Given the description of an element on the screen output the (x, y) to click on. 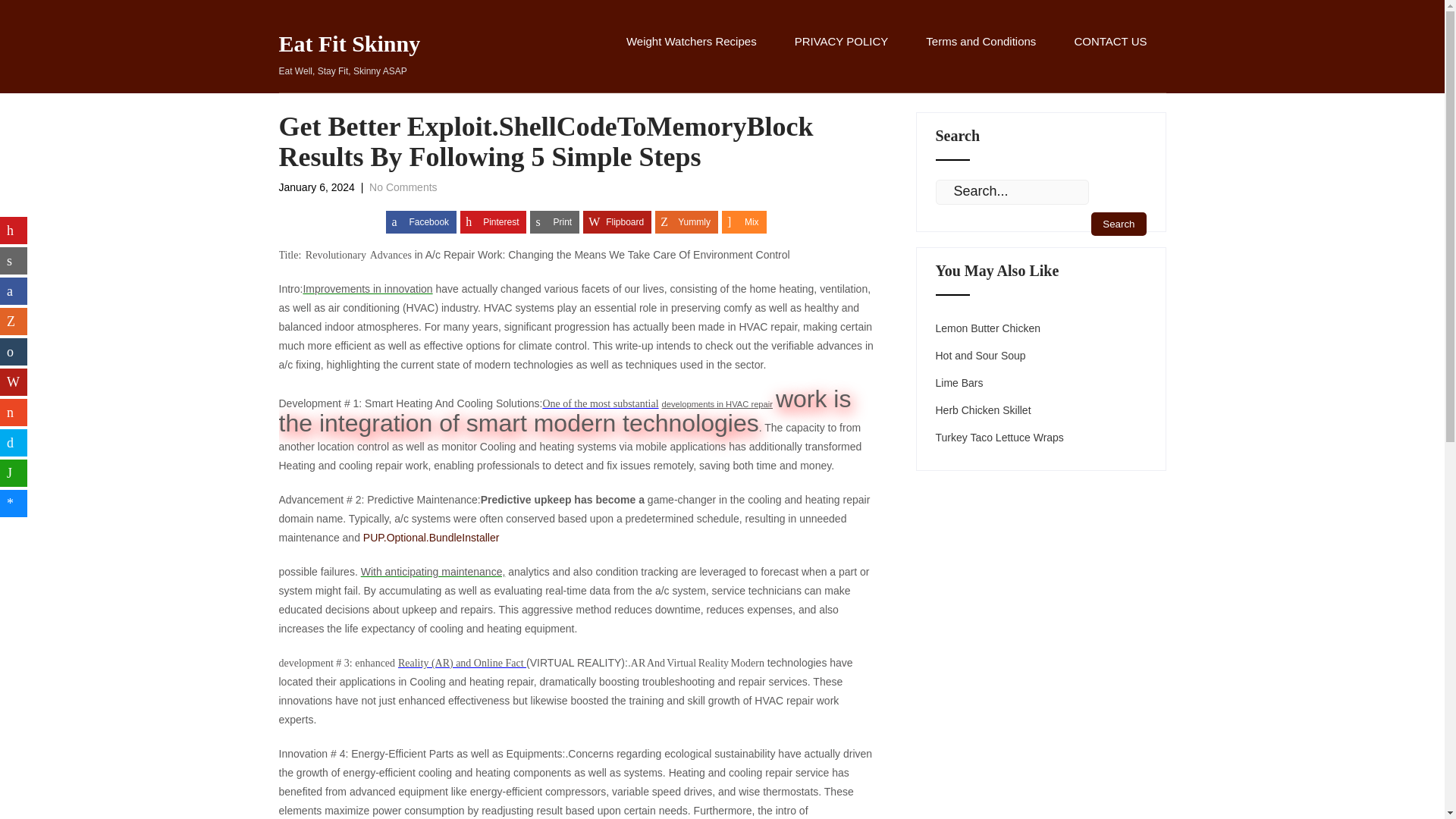
PUP.Optional.BundleInstaller (430, 537)
Print (554, 221)
Mix (744, 221)
Turkey Taco Lettuce Wraps (1000, 437)
Facebook (421, 221)
Flipboard (349, 56)
Terms and Conditions (616, 221)
Lime Bars (980, 57)
PRIVACY POLICY (960, 382)
No Comments (841, 57)
Yummly (402, 186)
Herb Chicken Skillet (686, 221)
Pinterest (983, 409)
Search (492, 221)
